Given the description of an element on the screen output the (x, y) to click on. 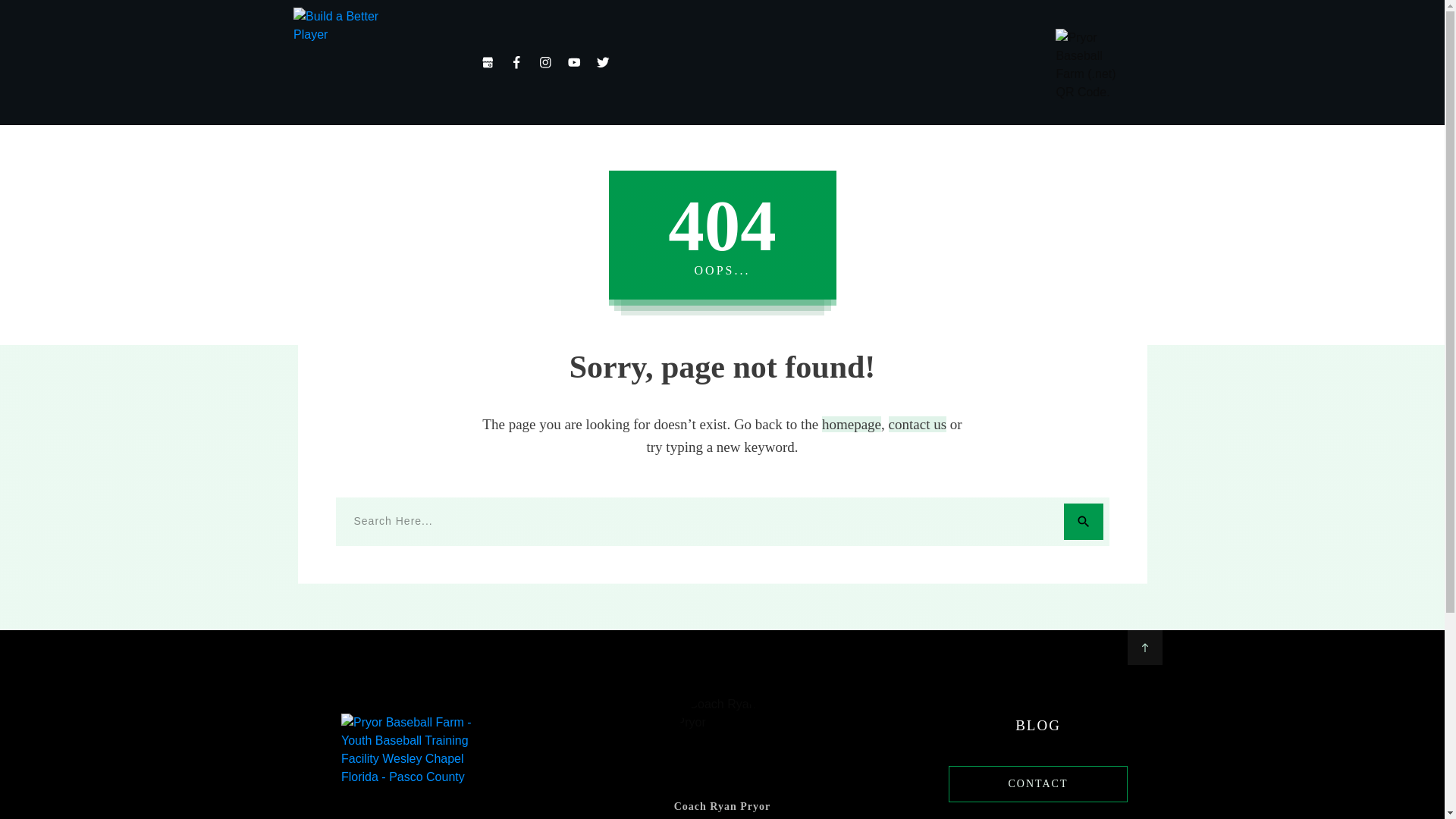
PryorBaseballFarm.net QR Code (1093, 66)
BLOG (1037, 725)
Coach Ryan Pryor - Pryor Baseball Farm (722, 738)
CONTACT (1037, 784)
contact us (917, 424)
homepage (851, 424)
